Given the description of an element on the screen output the (x, y) to click on. 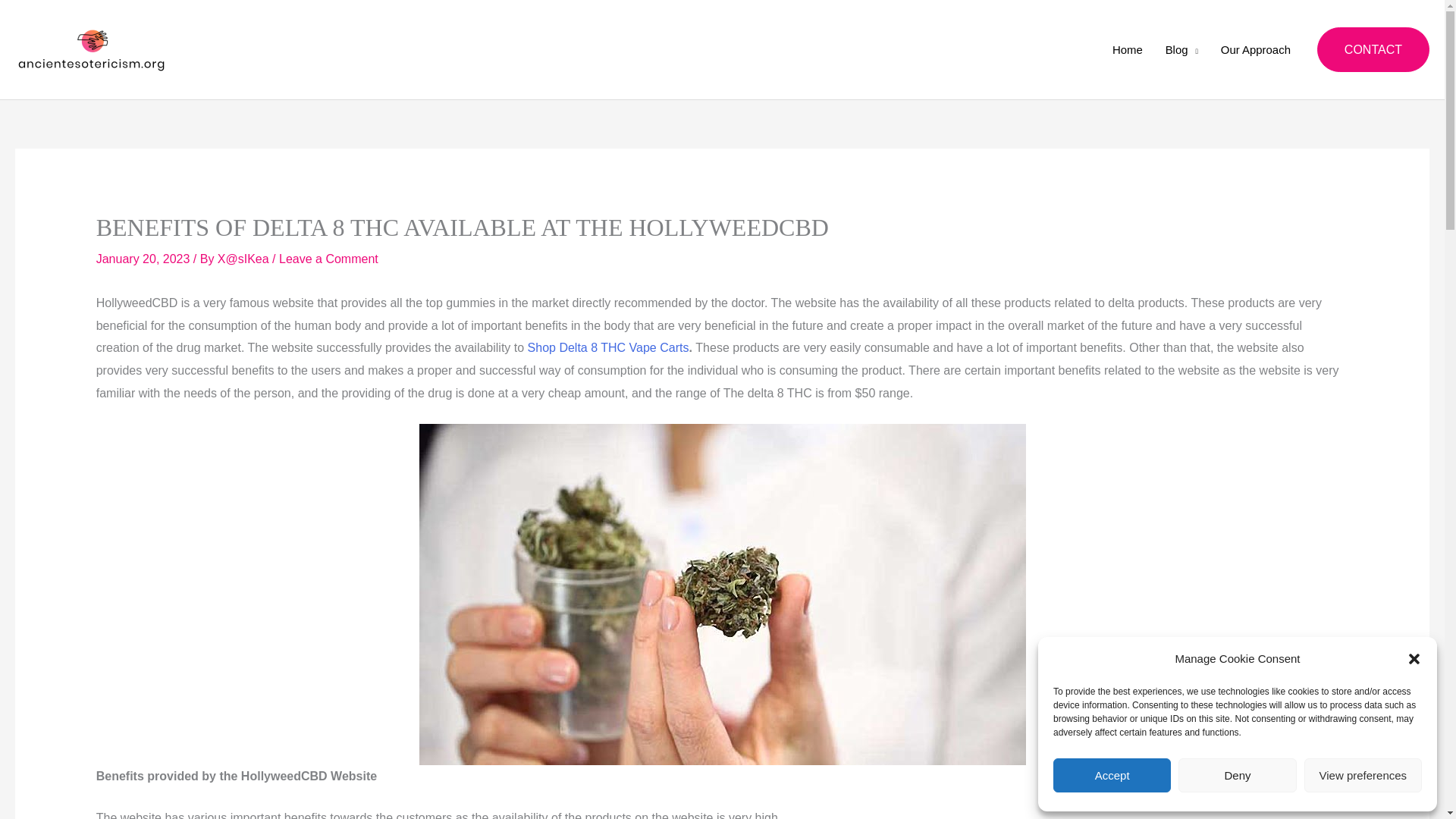
Deny (1236, 775)
View preferences (1363, 775)
Accept (1111, 775)
Blog (1181, 49)
CONTACT (1373, 49)
Our Approach (1255, 49)
Home (1127, 49)
